Given the description of an element on the screen output the (x, y) to click on. 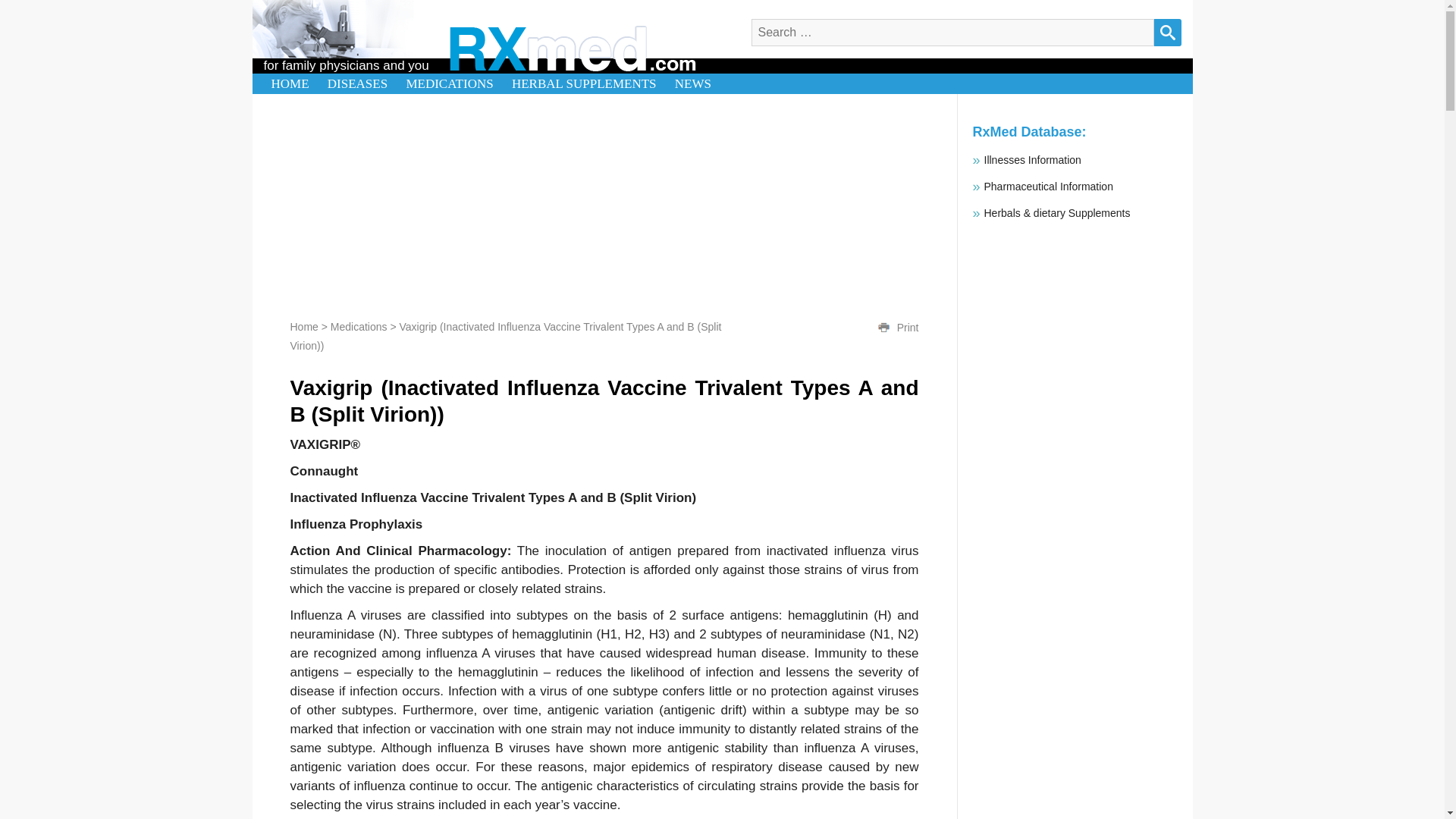
Illnesses Information (1057, 213)
Illnesses Information (1032, 159)
Home (303, 326)
Go to Medications. (358, 326)
MEDICATIONS (448, 83)
Advertisement (1074, 771)
Go to RxMed: Diseases and Preparations' Description. (303, 326)
HERBAL SUPPLEMENTS (583, 83)
NEWS (692, 83)
Medications (358, 326)
Pharmaceutical Information (1048, 186)
DISEASES (357, 83)
Illnesses Information (1048, 186)
Illnesses Information (1032, 159)
RxMed: Diseases and Preparations' Description (571, 49)
